Given the description of an element on the screen output the (x, y) to click on. 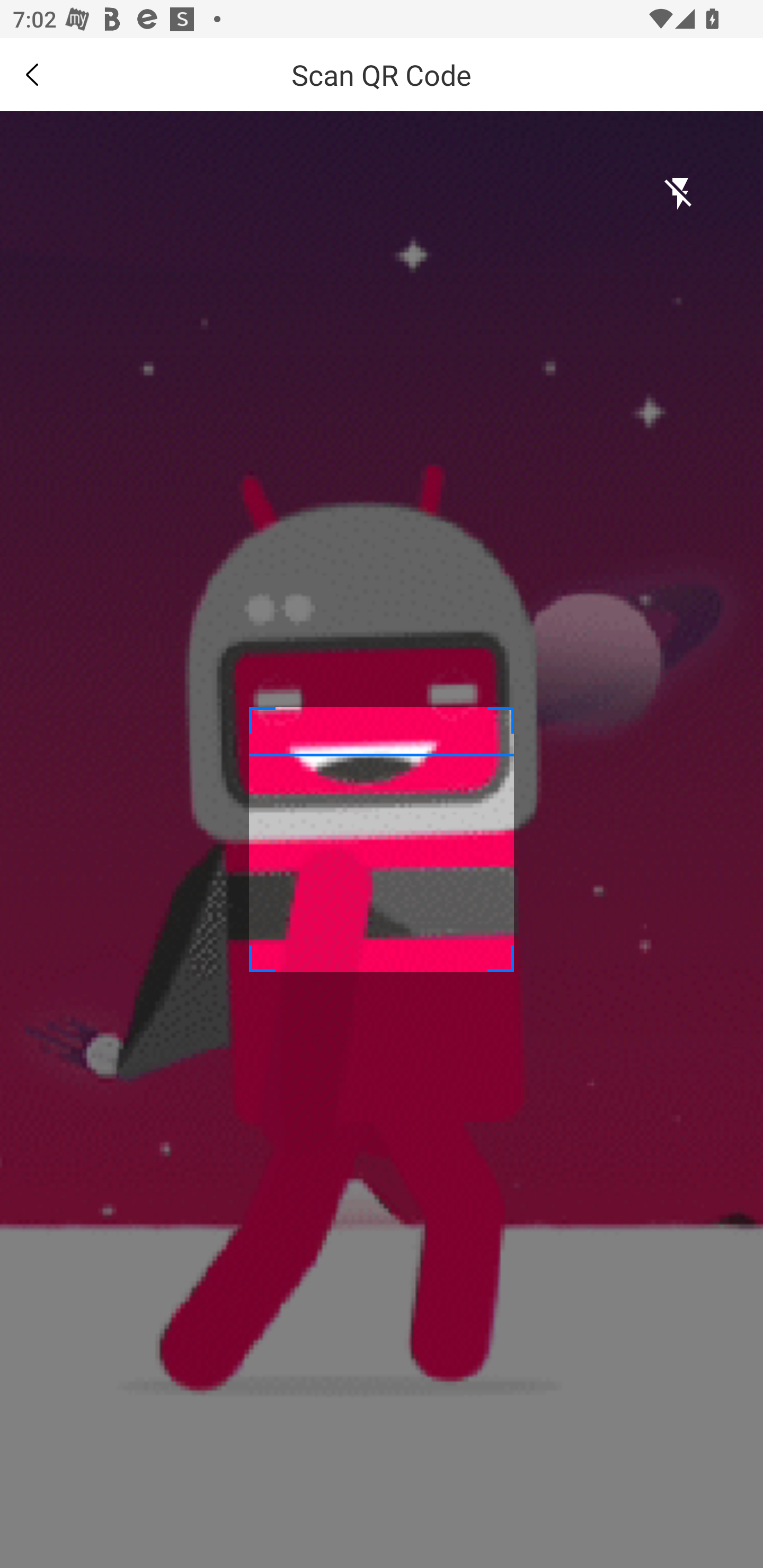
Back (31, 74)
